Given the description of an element on the screen output the (x, y) to click on. 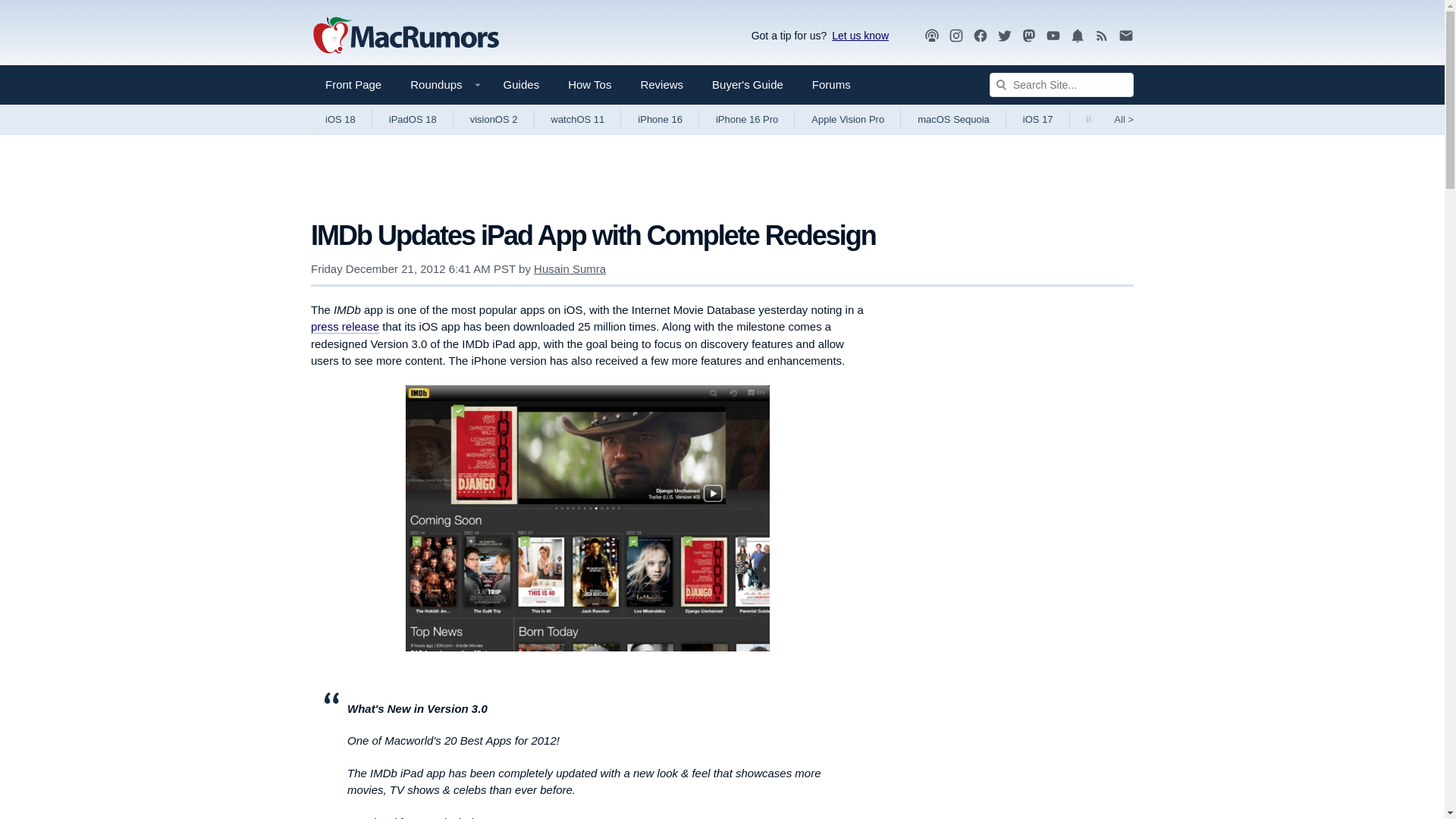
MacRumors FaceBook Page (980, 35)
YouTube (1053, 35)
Notifications (1077, 35)
Front (353, 84)
YouTube (1053, 35)
MacRumors Newsletter Signup (1126, 35)
MacRumors on Twitter (1004, 35)
Notifications (1077, 35)
Twitter (1004, 35)
Reviews (661, 84)
